Given the description of an element on the screen output the (x, y) to click on. 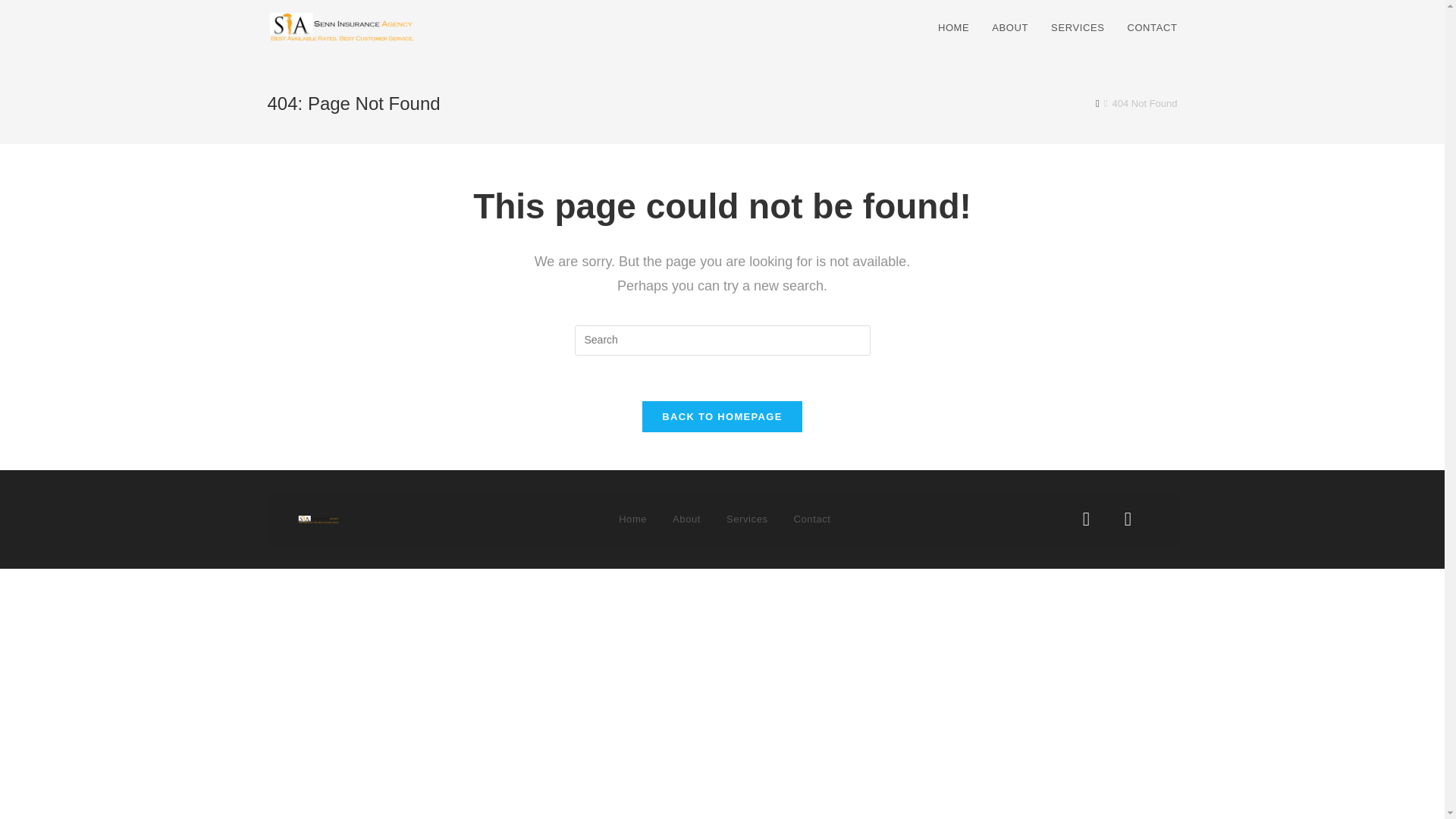
Services (746, 519)
BACK TO HOMEPAGE (722, 416)
CONTACT (1151, 28)
SERVICES (1077, 28)
Home (632, 519)
Contact (813, 519)
About (686, 519)
ABOUT (1009, 28)
HOME (952, 28)
